Given the description of an element on the screen output the (x, y) to click on. 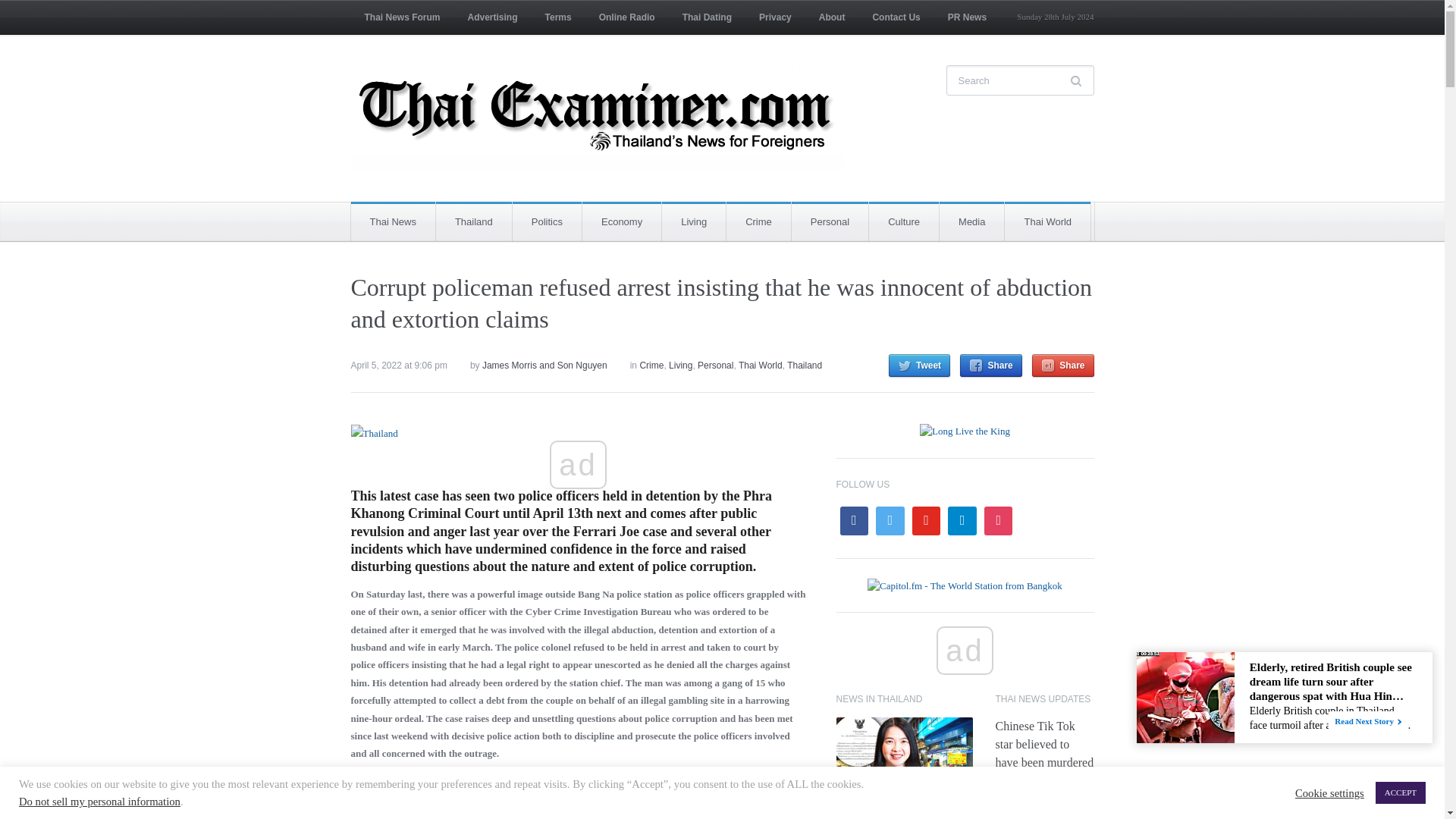
Money, business and finance in Thailand (621, 220)
Crime (758, 220)
Politics (546, 220)
Living (693, 220)
Culture (904, 220)
Crime (651, 365)
Thailand (473, 220)
Thai Dating (706, 17)
Share (1062, 364)
Search (1077, 81)
About (832, 17)
Online Radio (626, 17)
Share (990, 364)
Economy (621, 220)
